Given the description of an element on the screen output the (x, y) to click on. 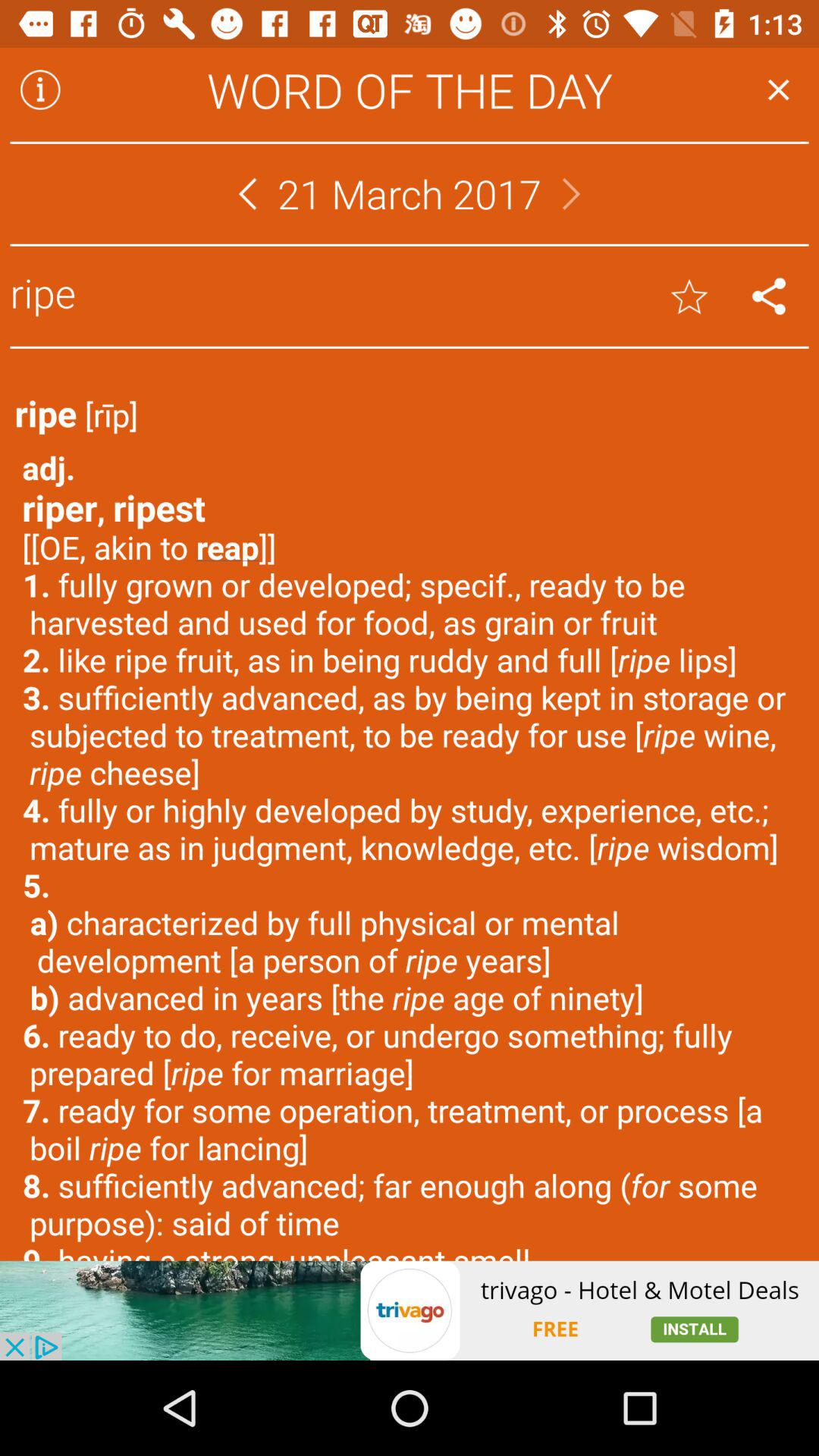
close button (778, 89)
